Given the description of an element on the screen output the (x, y) to click on. 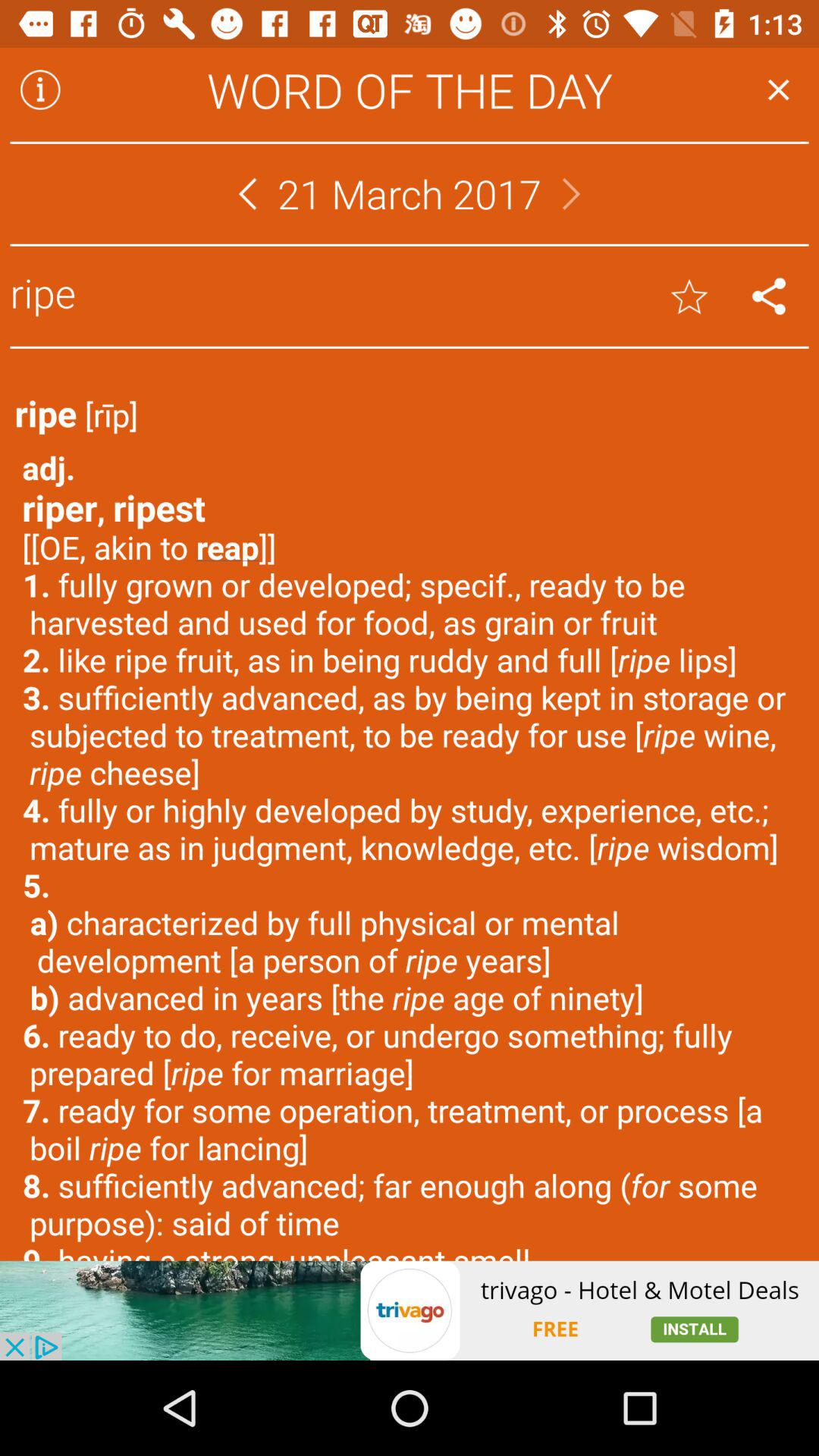
close button (778, 89)
